Given the description of an element on the screen output the (x, y) to click on. 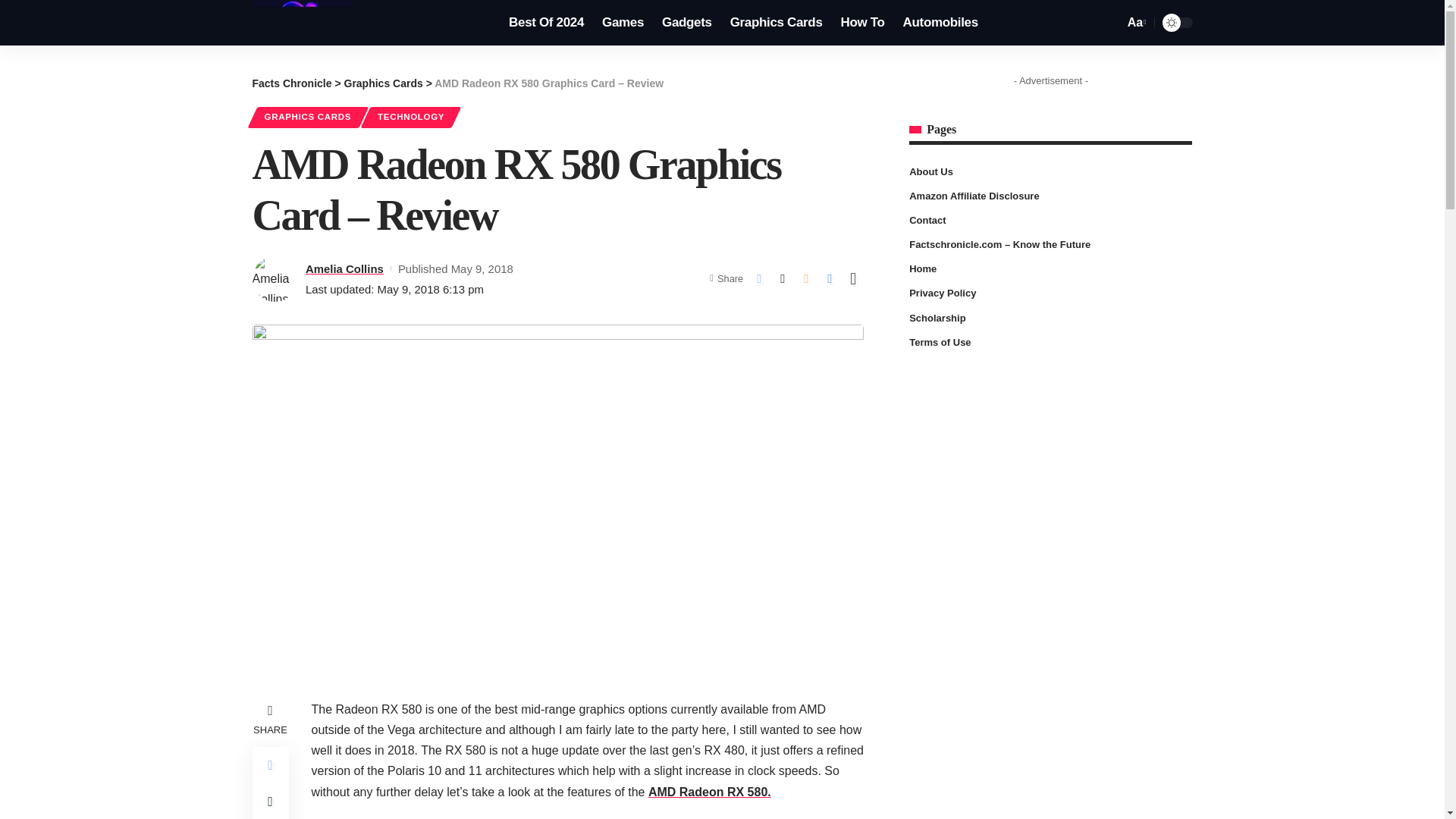
Graphics Cards (383, 82)
Facts Chronicle (291, 82)
Facts Chronicle (301, 22)
Graphics Cards (775, 22)
TECHNOLOGY (411, 117)
Automobiles (940, 22)
Go to the Graphics Cards Category archives. (383, 82)
Aa (1135, 22)
Amelia Collins (344, 268)
Gadgets (686, 22)
